Given the description of an element on the screen output the (x, y) to click on. 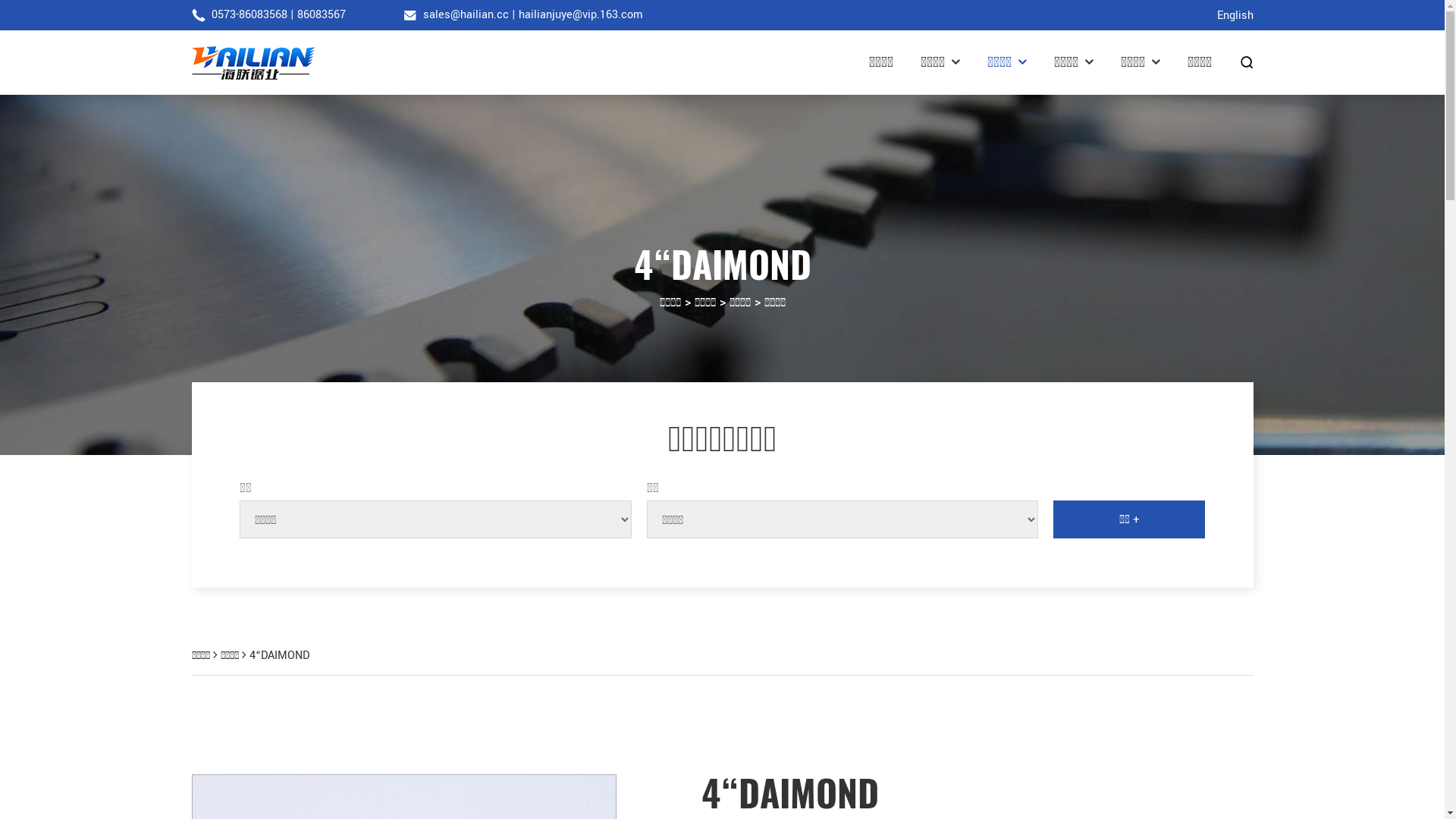
English Element type: text (1234, 15)
